Given the description of an element on the screen output the (x, y) to click on. 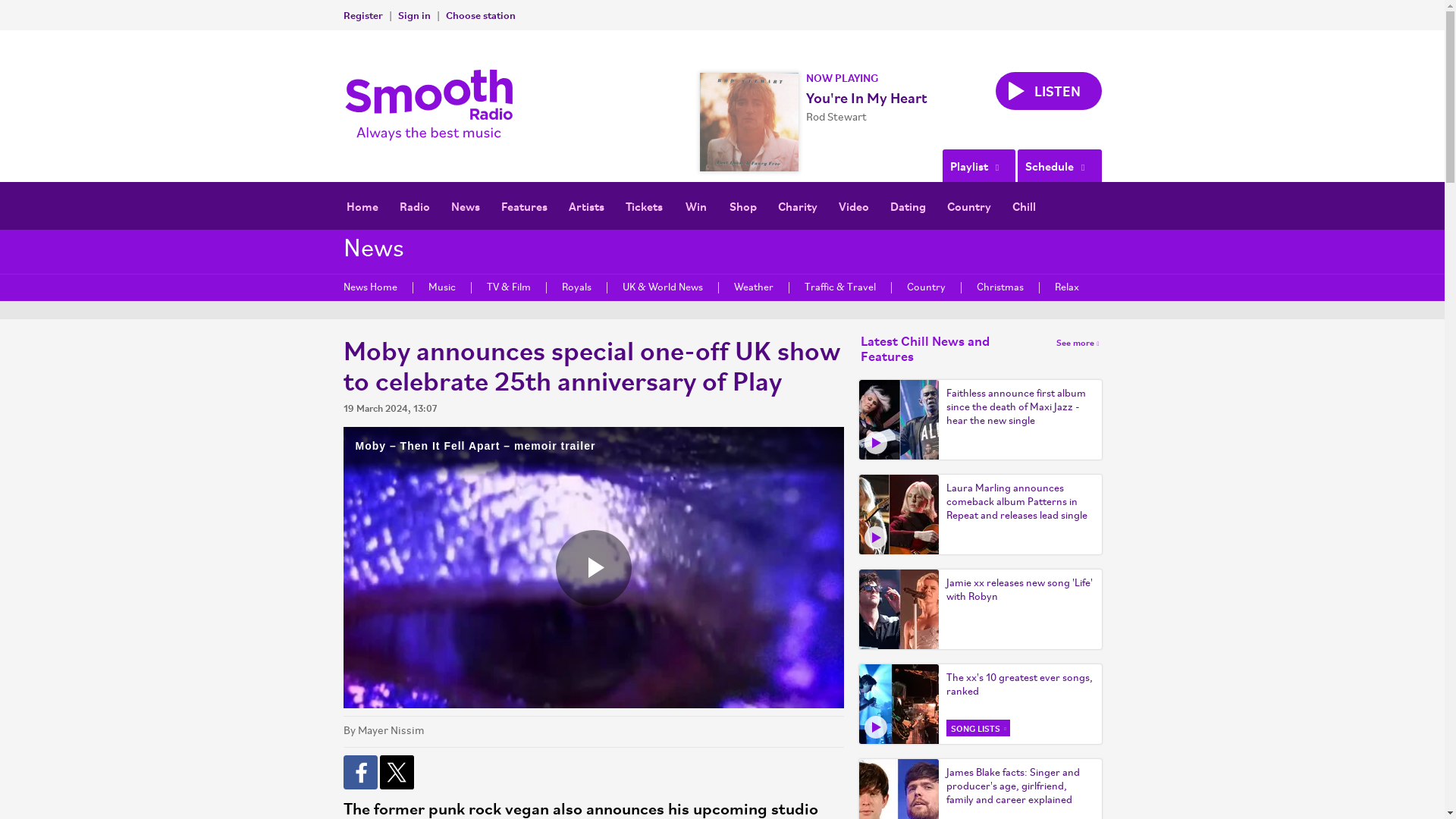
Royals (576, 287)
LISTEN (1047, 90)
Home (361, 205)
Video (853, 205)
Tickets (643, 205)
Smooth (432, 105)
Radio (413, 205)
Chill (1023, 205)
News (464, 205)
Register (361, 14)
Artists (585, 205)
Choose station (480, 14)
Features (523, 205)
Win (695, 205)
News Home (373, 287)
